Given the description of an element on the screen output the (x, y) to click on. 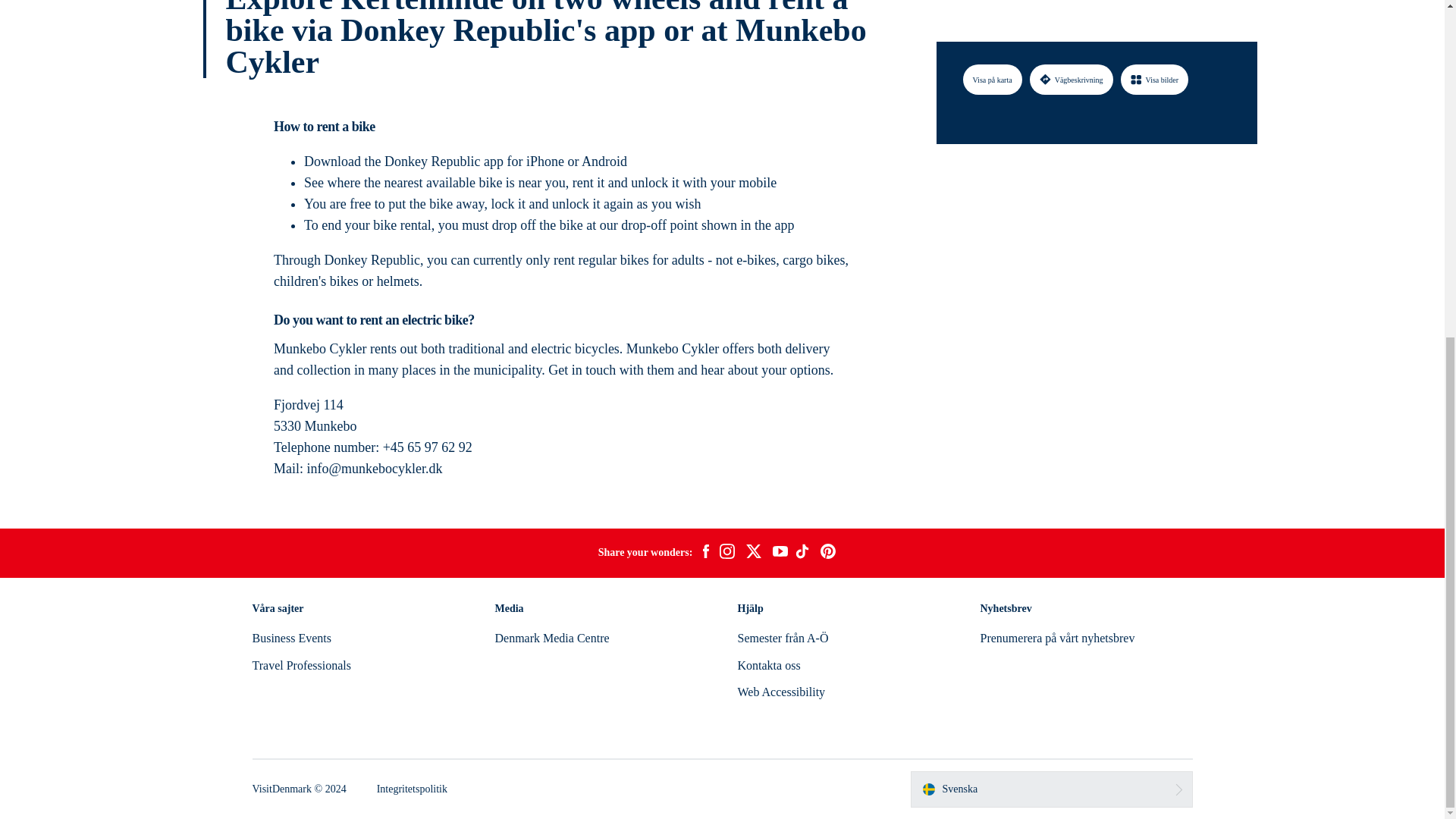
pinterest (828, 553)
Integritetspolitik (411, 789)
Denmark Media Centre (551, 637)
facebook (705, 553)
Web Accessibility (780, 691)
twitter (753, 553)
Kontakta oss (767, 665)
Business Events (290, 637)
tiktok (804, 553)
Integritetspolitik (411, 789)
